Given the description of an element on the screen output the (x, y) to click on. 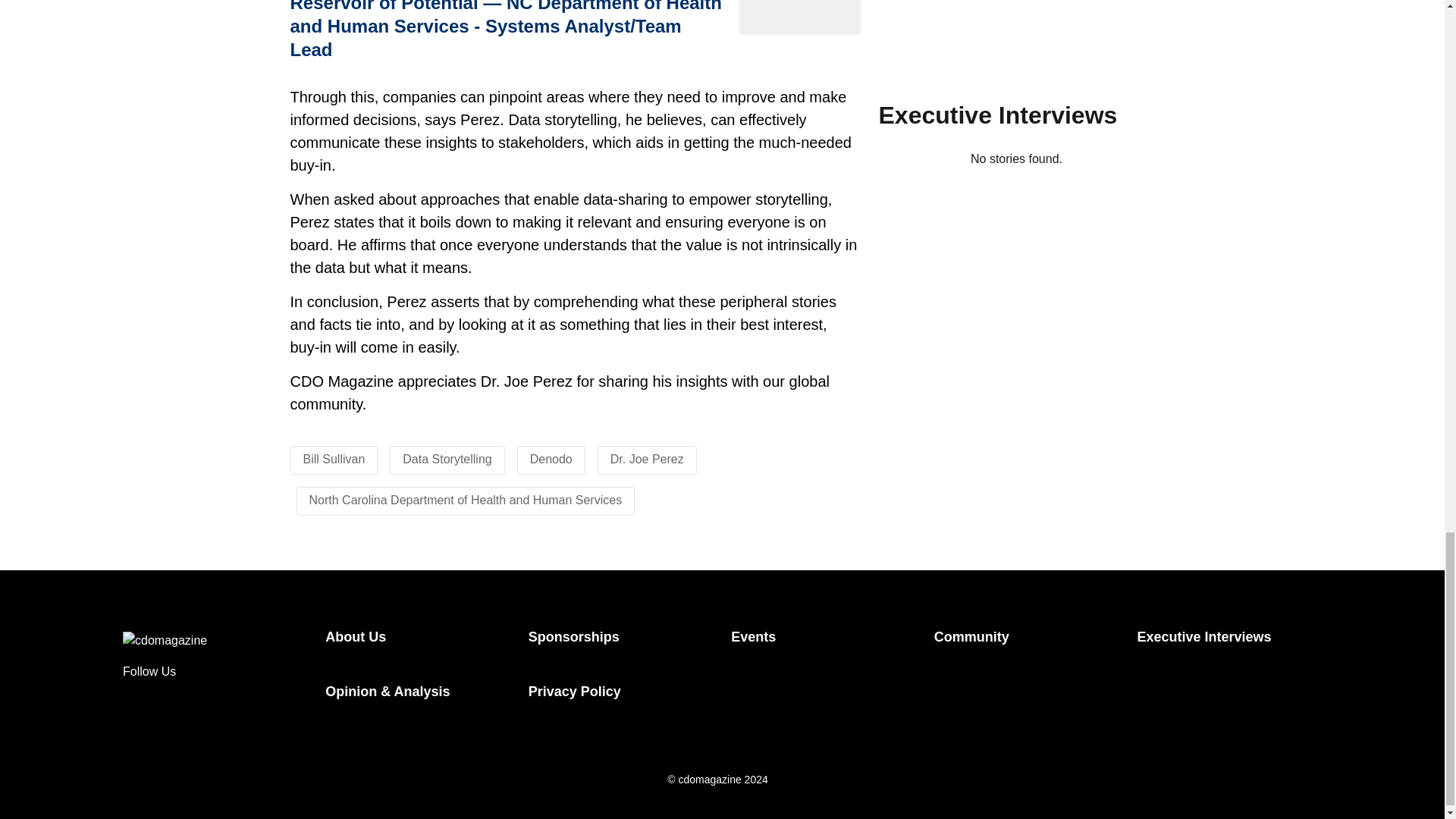
Bill Sullivan (333, 459)
Denodo (550, 459)
Data Storytelling (447, 459)
Dr. Joe Perez (647, 459)
North Carolina Department of Health and Human Services (465, 499)
